Given the description of an element on the screen output the (x, y) to click on. 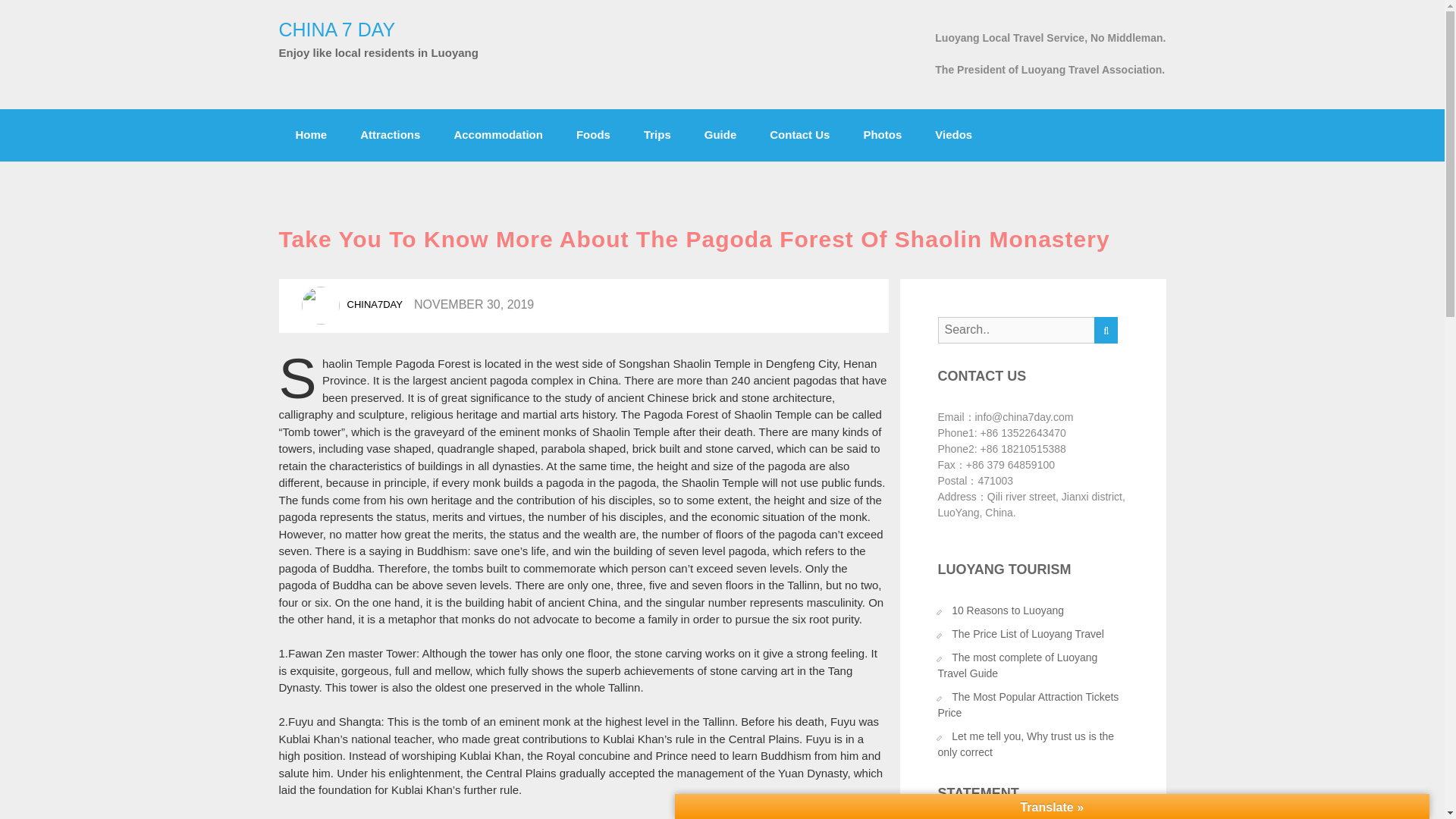
The most complete of Luoyang Travel Guide (1017, 665)
CHINA7DAY (375, 304)
Let me tell you, Why trust us is the only correct (1025, 744)
Viedos (953, 134)
The Most Popular Attraction Tickets Price (1027, 705)
Trips (657, 134)
10 Reasons to Luoyang (1008, 610)
Attractions (389, 134)
Guide (720, 134)
Foods (593, 134)
